Given the description of an element on the screen output the (x, y) to click on. 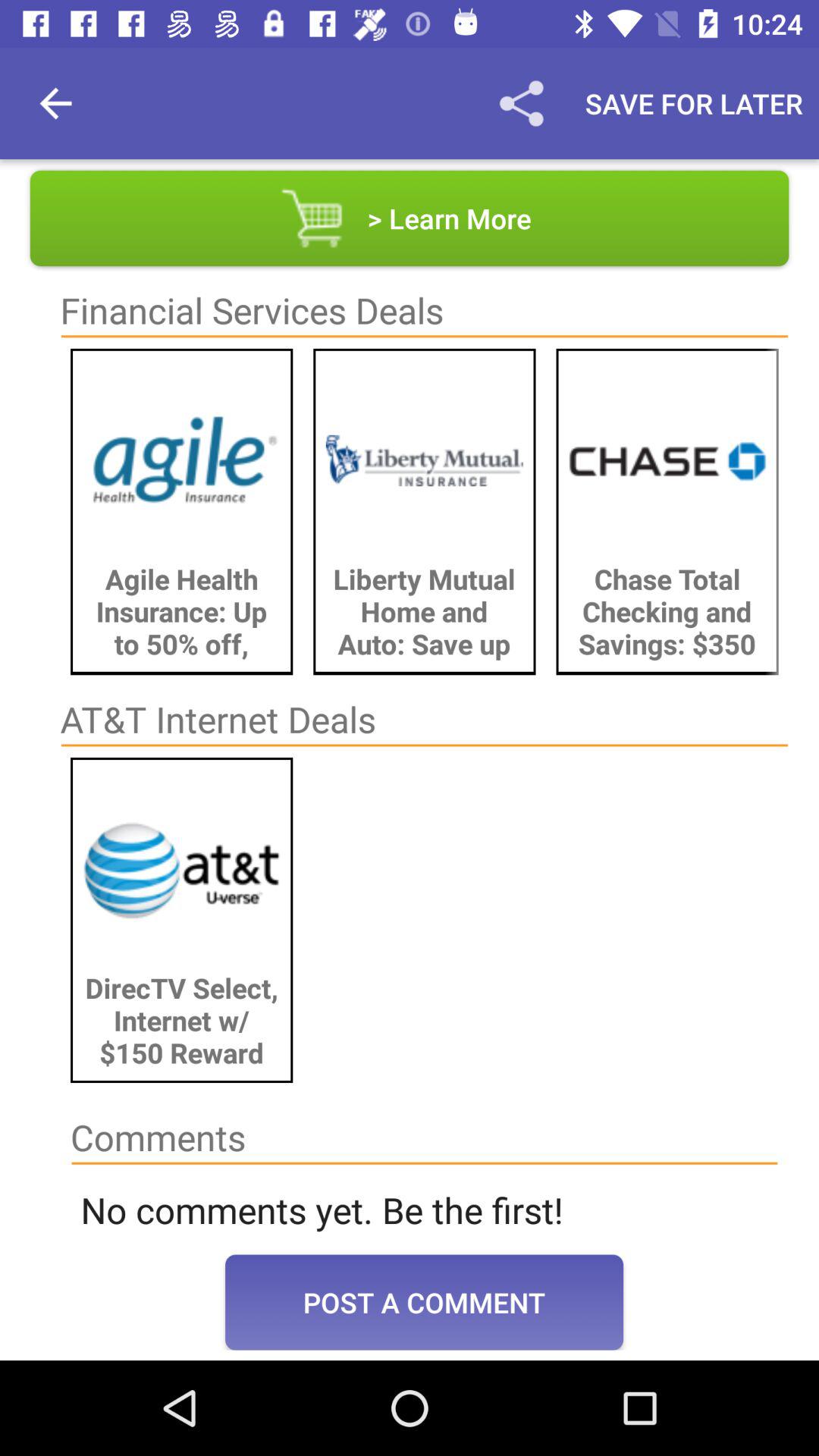
open the item above the financial services deals item (409, 218)
